Given the description of an element on the screen output the (x, y) to click on. 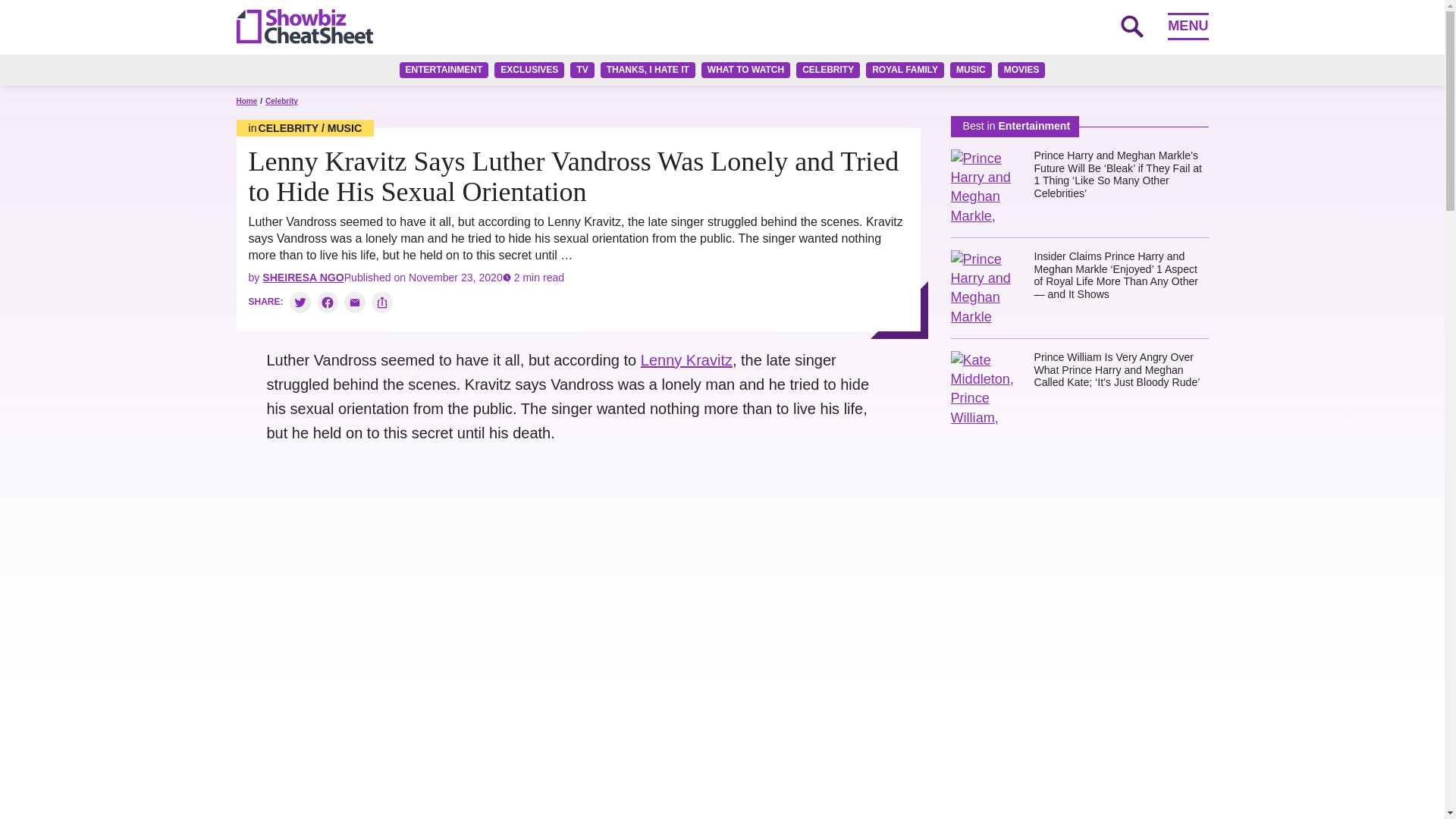
ENTERTAINMENT (443, 69)
SHEIRESA NGO (302, 277)
Copy link (382, 301)
Home (246, 101)
EXCLUSIVES (529, 69)
WHAT TO WATCH (745, 69)
Copy link and share:  (382, 301)
Share via email: (354, 301)
Share on Facebook: (327, 301)
